Given the description of an element on the screen output the (x, y) to click on. 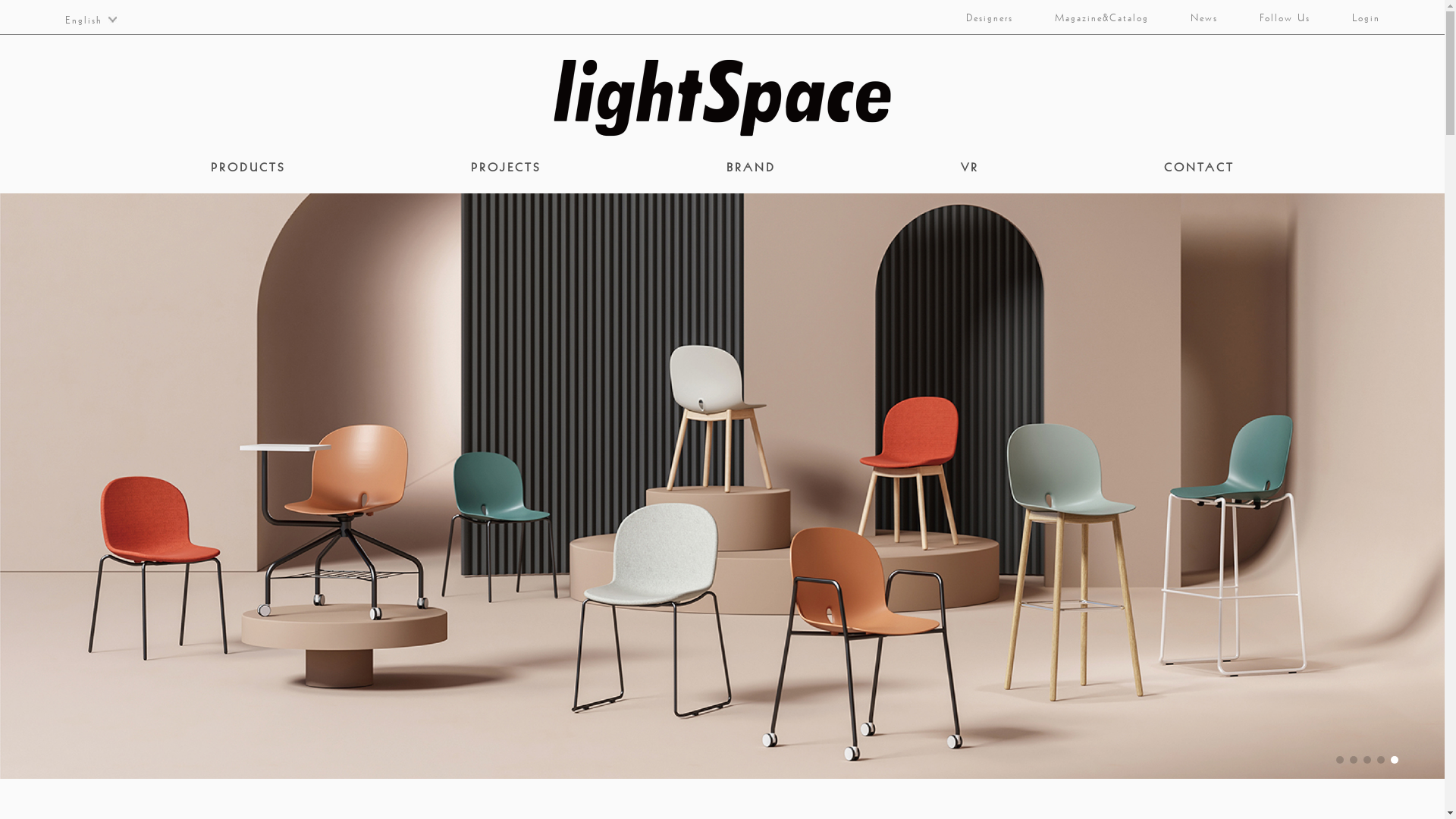
VR Element type: text (968, 166)
Magazine&Catalog Element type: text (1091, 17)
PROJECTS Element type: text (505, 166)
LightSpace Element type: text (722, 97)
Designers Element type: text (979, 17)
News Element type: text (1193, 17)
PRODUCTS Element type: text (248, 166)
BRAND Element type: text (750, 166)
Login Element type: text (1356, 17)
CONTACT Element type: text (1198, 166)
Follow Us Element type: text (1275, 17)
